Given the description of an element on the screen output the (x, y) to click on. 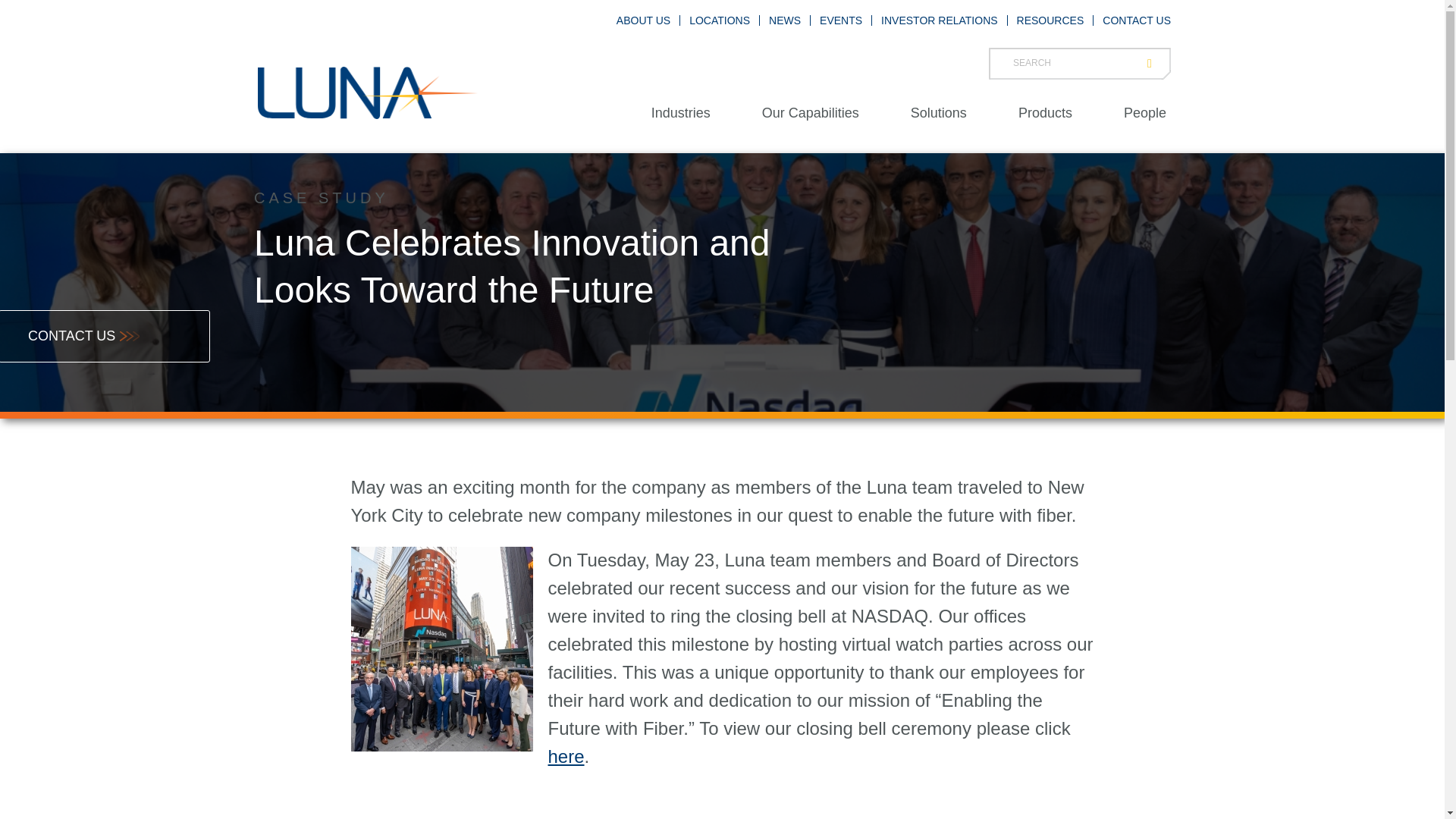
Locations (718, 20)
Industries (681, 112)
Our Capabilities (810, 112)
Solutions (938, 112)
submit (1154, 63)
Luna Innovations Rings the Closing Bell at NASDAQ (565, 756)
